Given the description of an element on the screen output the (x, y) to click on. 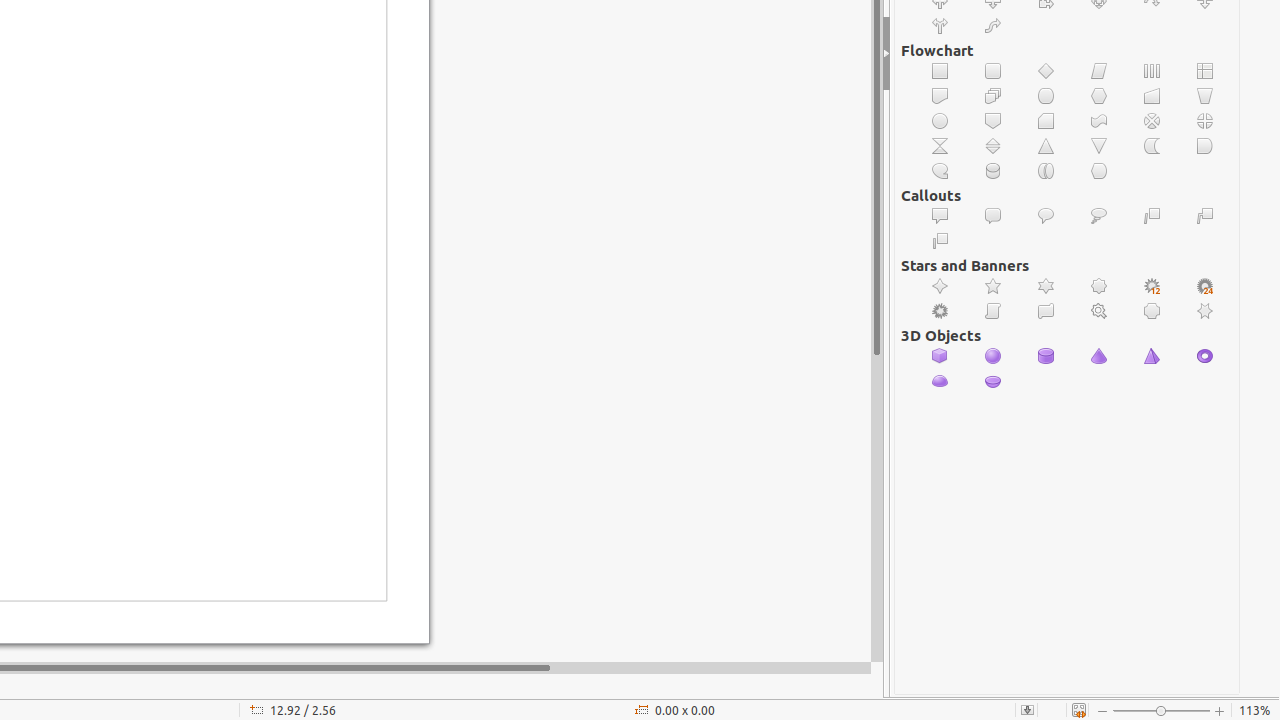
Line Callout 2 Element type: list-item (1205, 216)
Sphere Element type: list-item (993, 356)
Flowchart: Internal Storage Element type: list-item (1205, 71)
Rectangular Callout Element type: list-item (940, 216)
8-Point Star Element type: list-item (1099, 286)
